Given the description of an element on the screen output the (x, y) to click on. 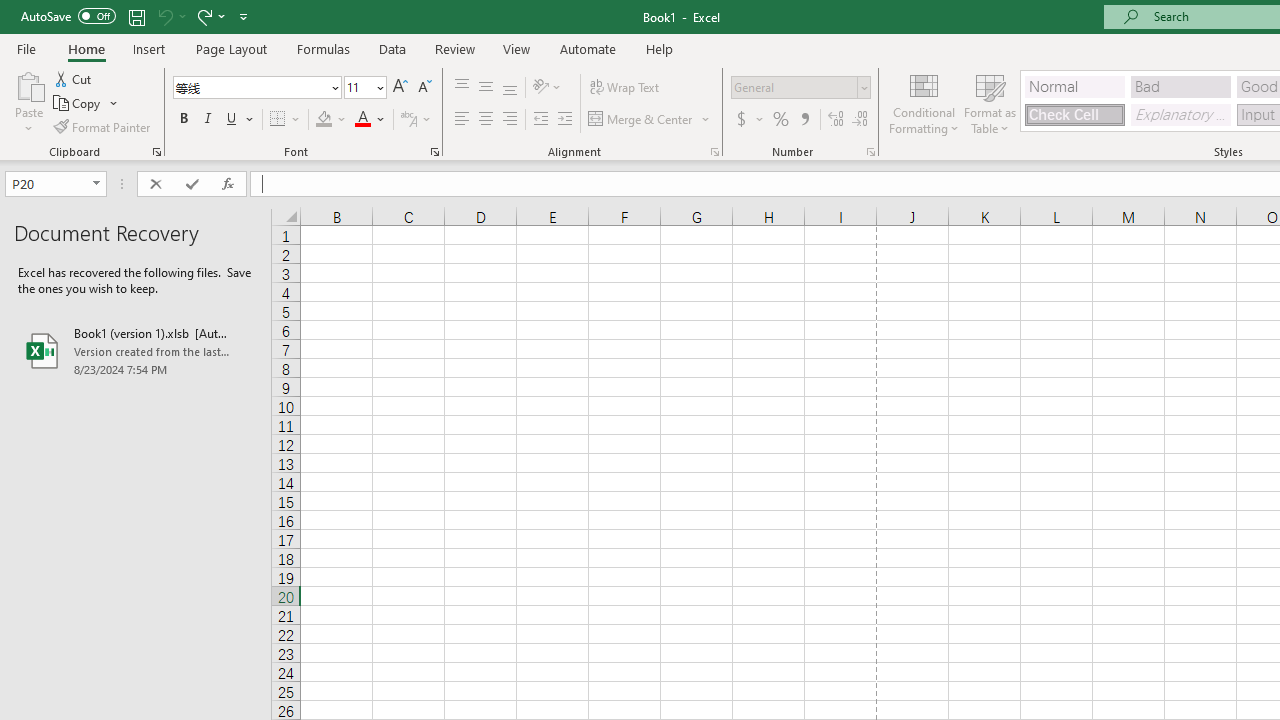
Align Right (509, 119)
Copy (78, 103)
Middle Align (485, 87)
Bottom Align (509, 87)
Normal (1074, 86)
Increase Decimal (836, 119)
Top Align (461, 87)
Format as Table (990, 102)
Paste (28, 84)
Format Painter (103, 126)
Number Format (794, 87)
View (517, 48)
Show Phonetic Field (408, 119)
Decrease Decimal (859, 119)
Format Cell Font (434, 151)
